Given the description of an element on the screen output the (x, y) to click on. 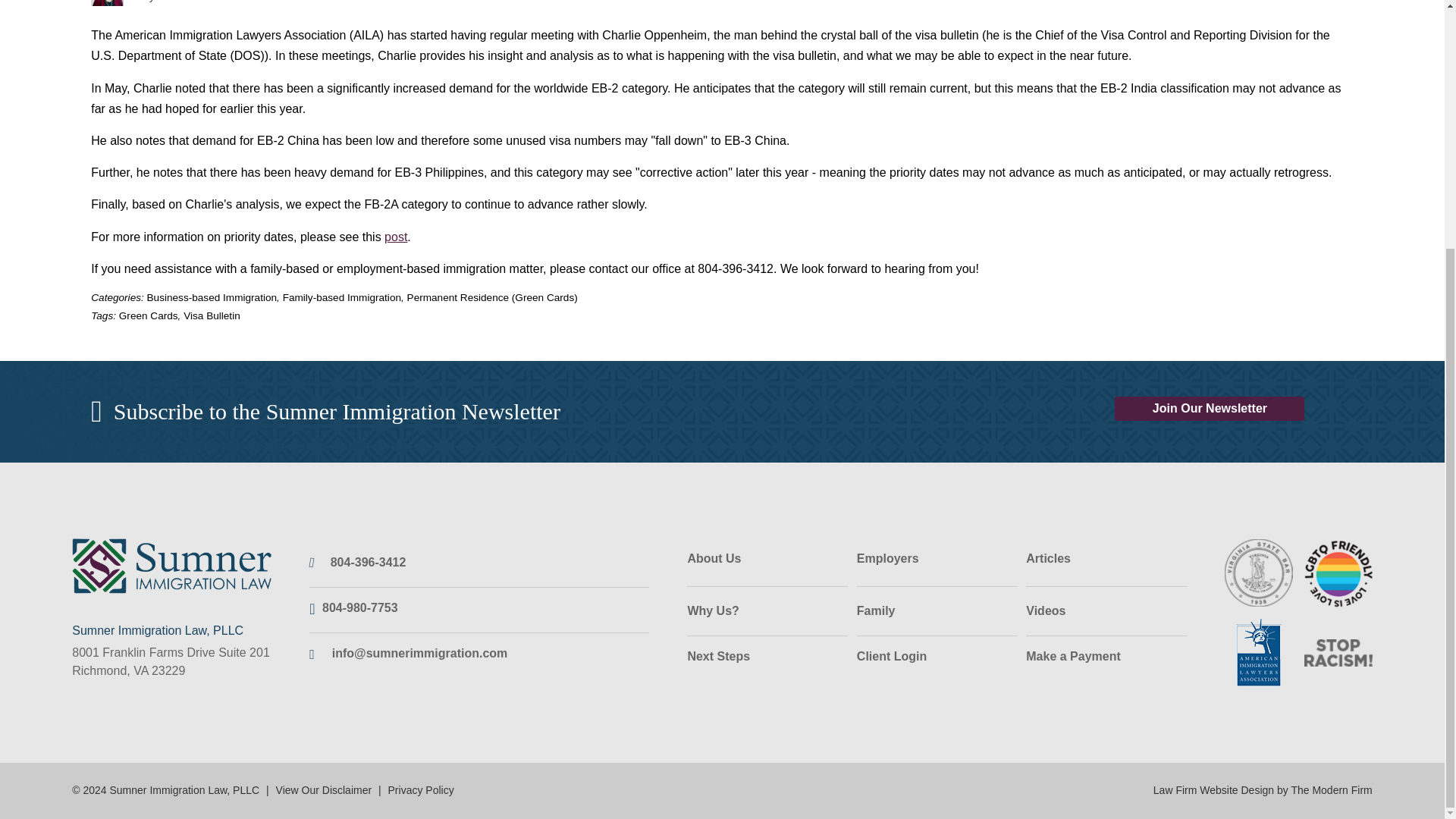
Click for more Green Cards information (148, 315)
Disclaimer (324, 789)
Law Firm Website Design (1263, 789)
Click for more Visa Bulletin information (211, 315)
View Emily Sumner's Profile (162, 2)
Click for more Family-based Immigration information (341, 297)
Email (419, 653)
Click for more Business-based Immigration information (212, 297)
